Given the description of an element on the screen output the (x, y) to click on. 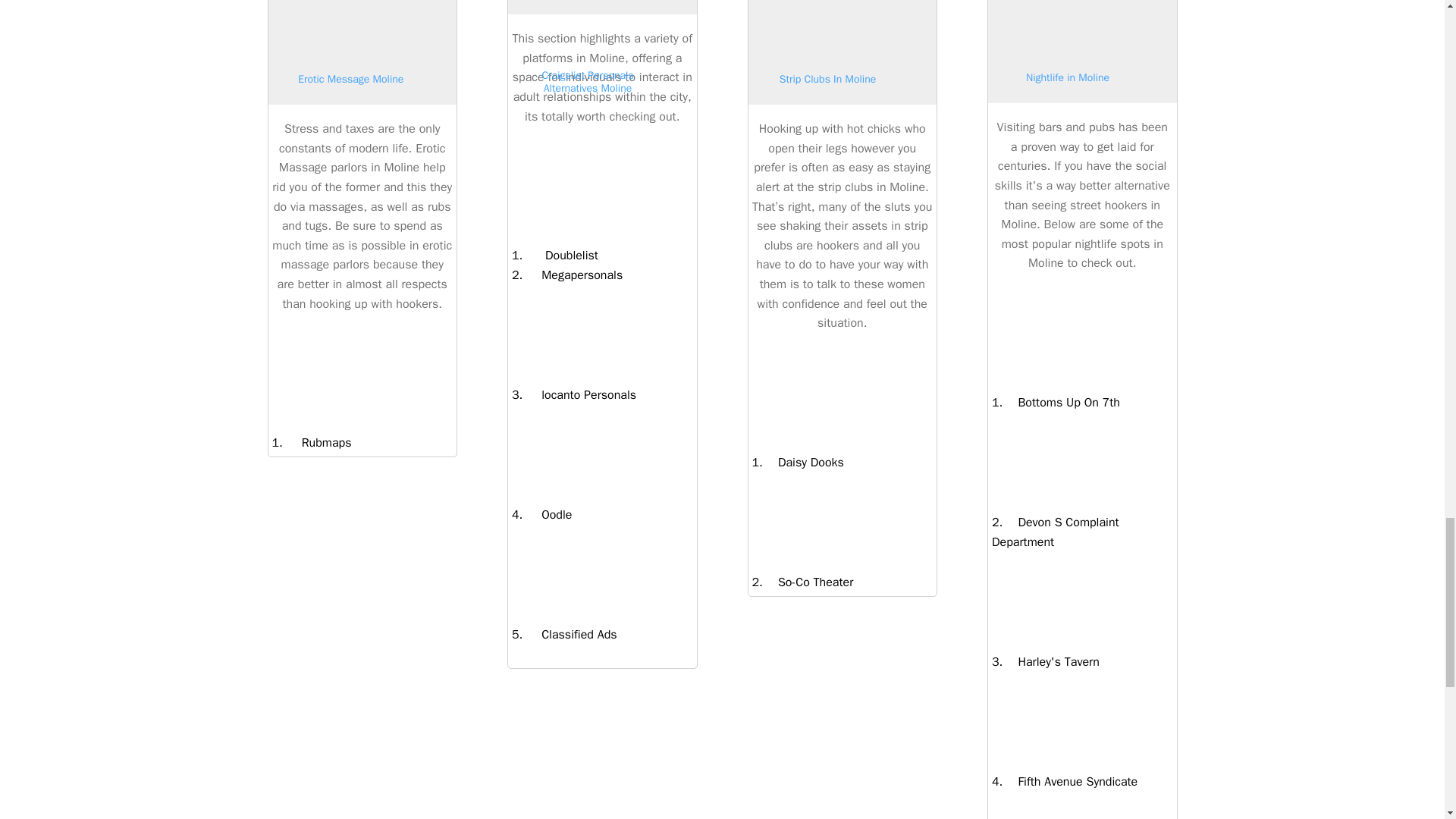
Bottoms Up On 7th (1061, 402)
Doublelist (560, 255)
So-Co Theater (807, 581)
Classified Ads (568, 634)
Daisy Dooks (803, 462)
Harley's Tavern (1051, 661)
locanto Personals (579, 394)
Oodle (547, 514)
Fifth Avenue Syndicate (1070, 781)
Rubmaps (317, 442)
Megapersonals (572, 274)
Devon S Complaint Department (1055, 532)
